Given the description of an element on the screen output the (x, y) to click on. 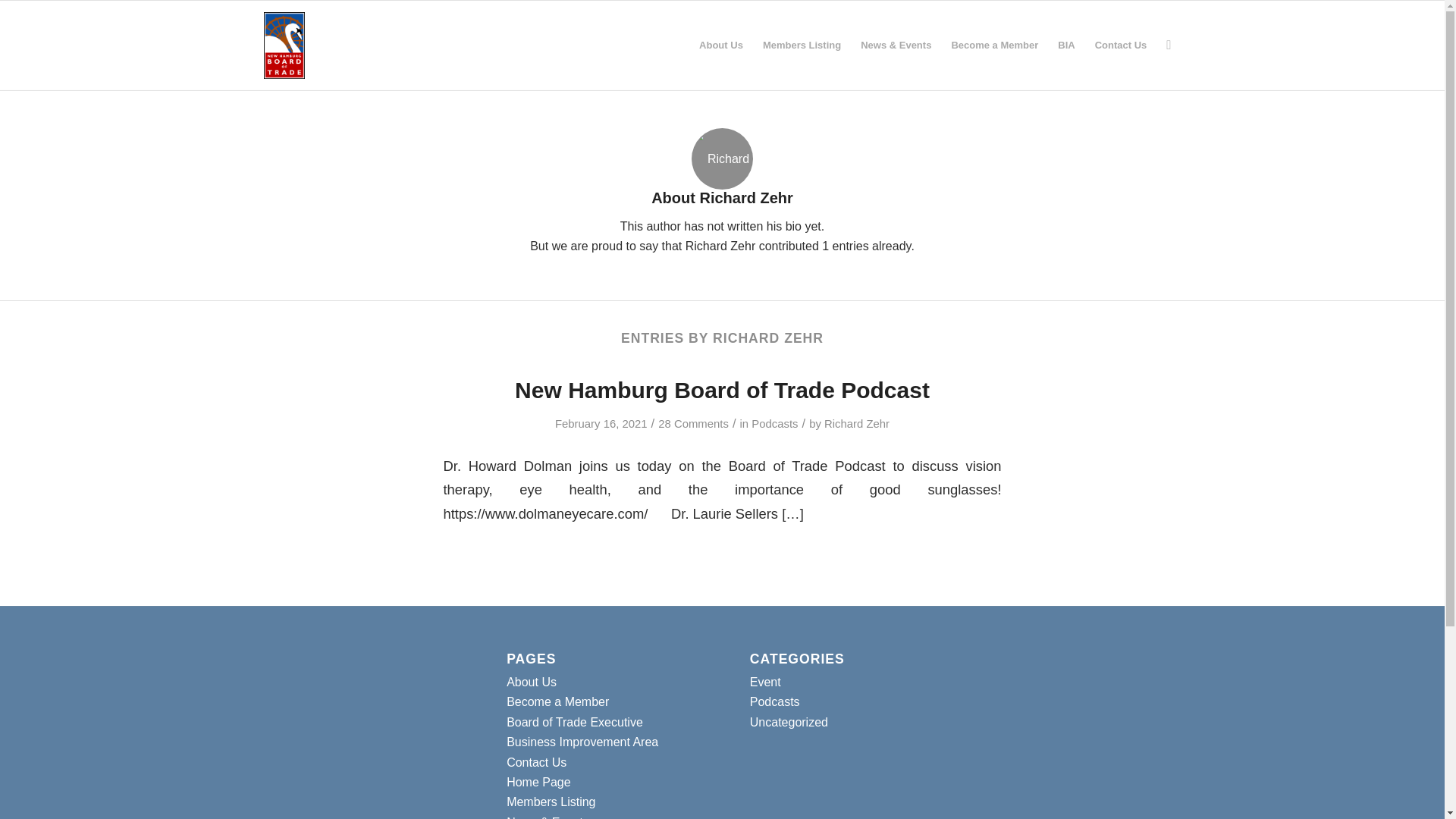
Contact Us (536, 762)
About Us (720, 45)
Podcasts (774, 423)
Become a Member (994, 45)
28 Comments (693, 423)
Podcasts (774, 701)
Business Improvement Area (582, 741)
Become a Member (557, 701)
Uncategorized (788, 721)
Board of Trade Executive (574, 721)
Posts by Richard Zehr (856, 423)
Richard Zehr (856, 423)
New Hamburg Board of Trade Podcast (722, 389)
Members Listing (550, 801)
Members Listing (801, 45)
